Given the description of an element on the screen output the (x, y) to click on. 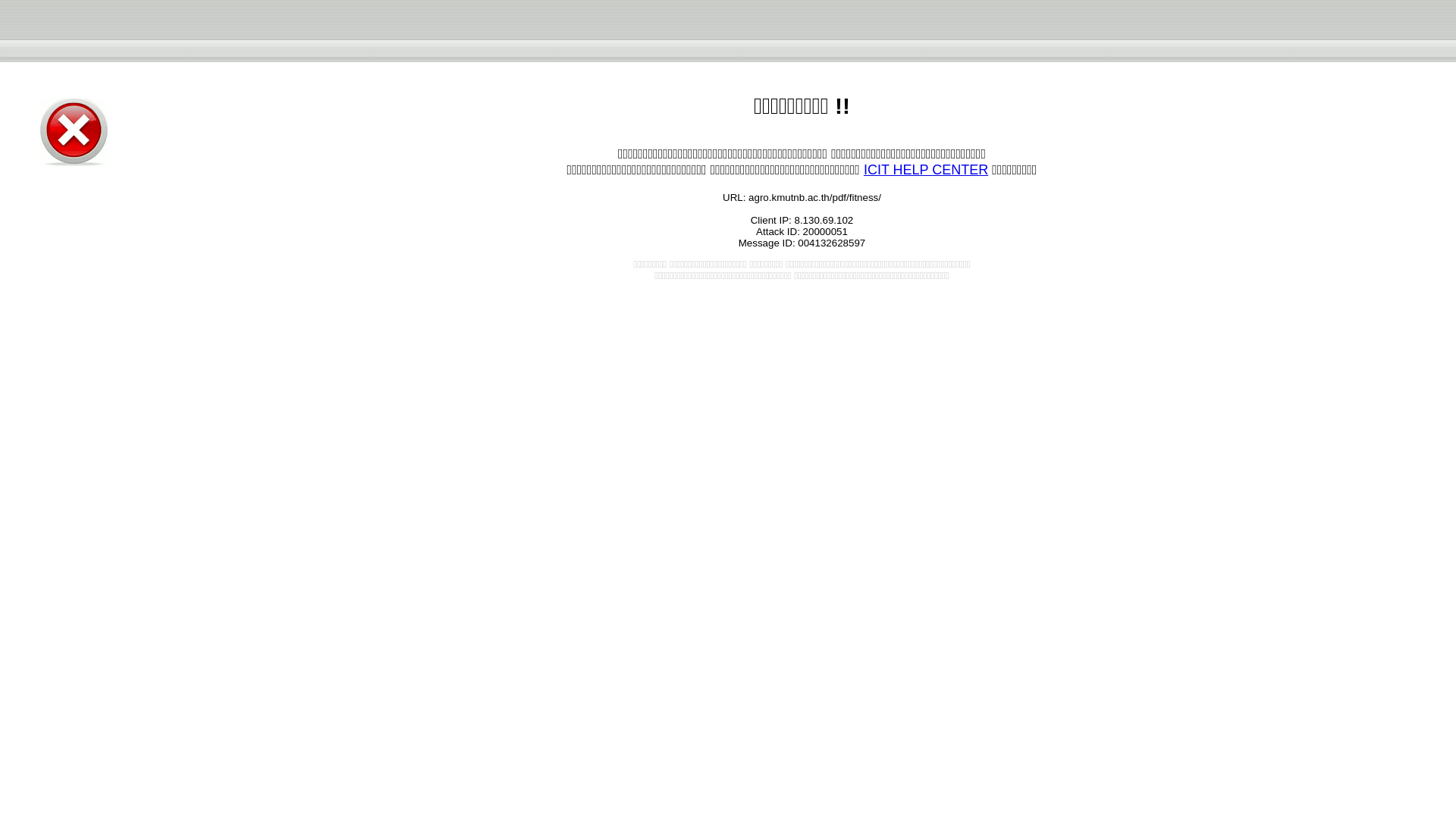
ICIT HELP CENTER (925, 169)
